Given the description of an element on the screen output the (x, y) to click on. 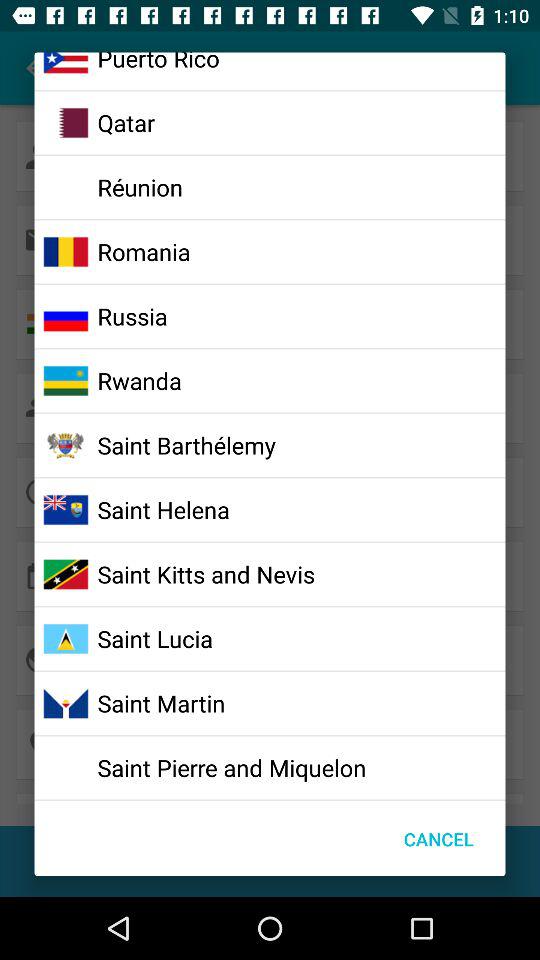
press the romania (143, 251)
